Given the description of an element on the screen output the (x, y) to click on. 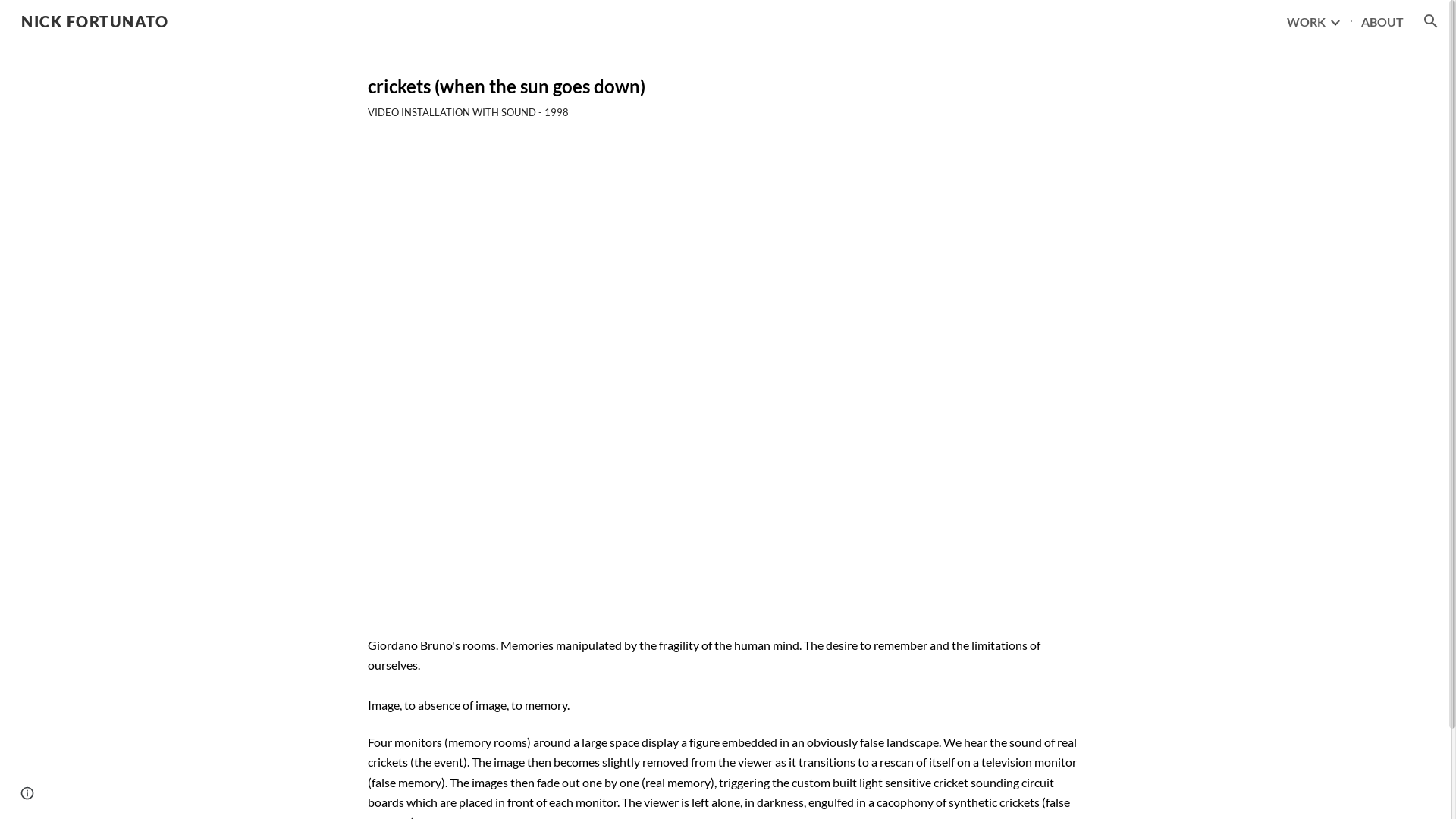
ABOUT Element type: text (1382, 20)
NICK FORTUNATO Element type: text (94, 18)
WORK Element type: text (1305, 20)
Expand/Collapse Element type: hover (1334, 20)
